Given the description of an element on the screen output the (x, y) to click on. 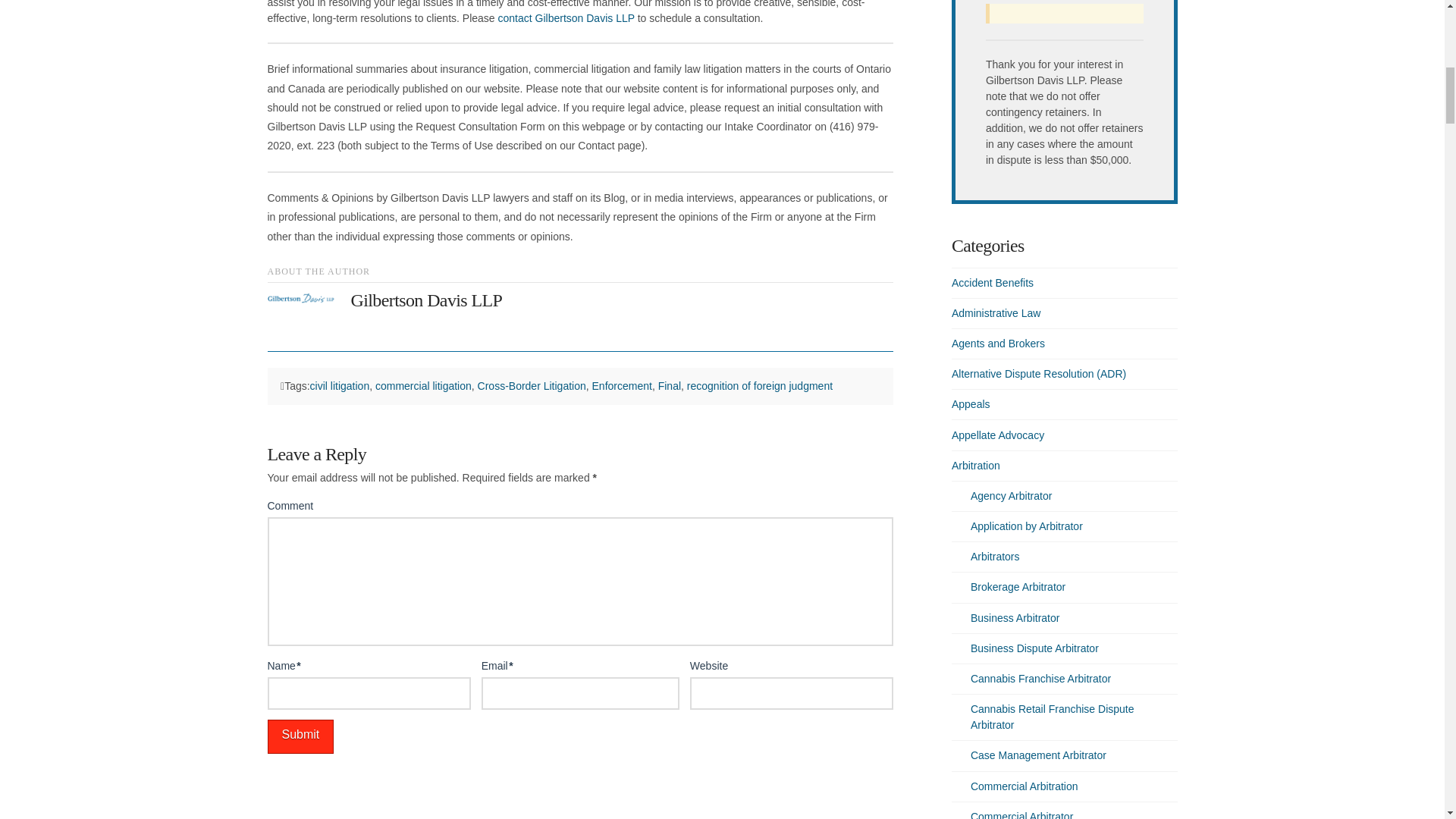
Submit (299, 736)
